Given the description of an element on the screen output the (x, y) to click on. 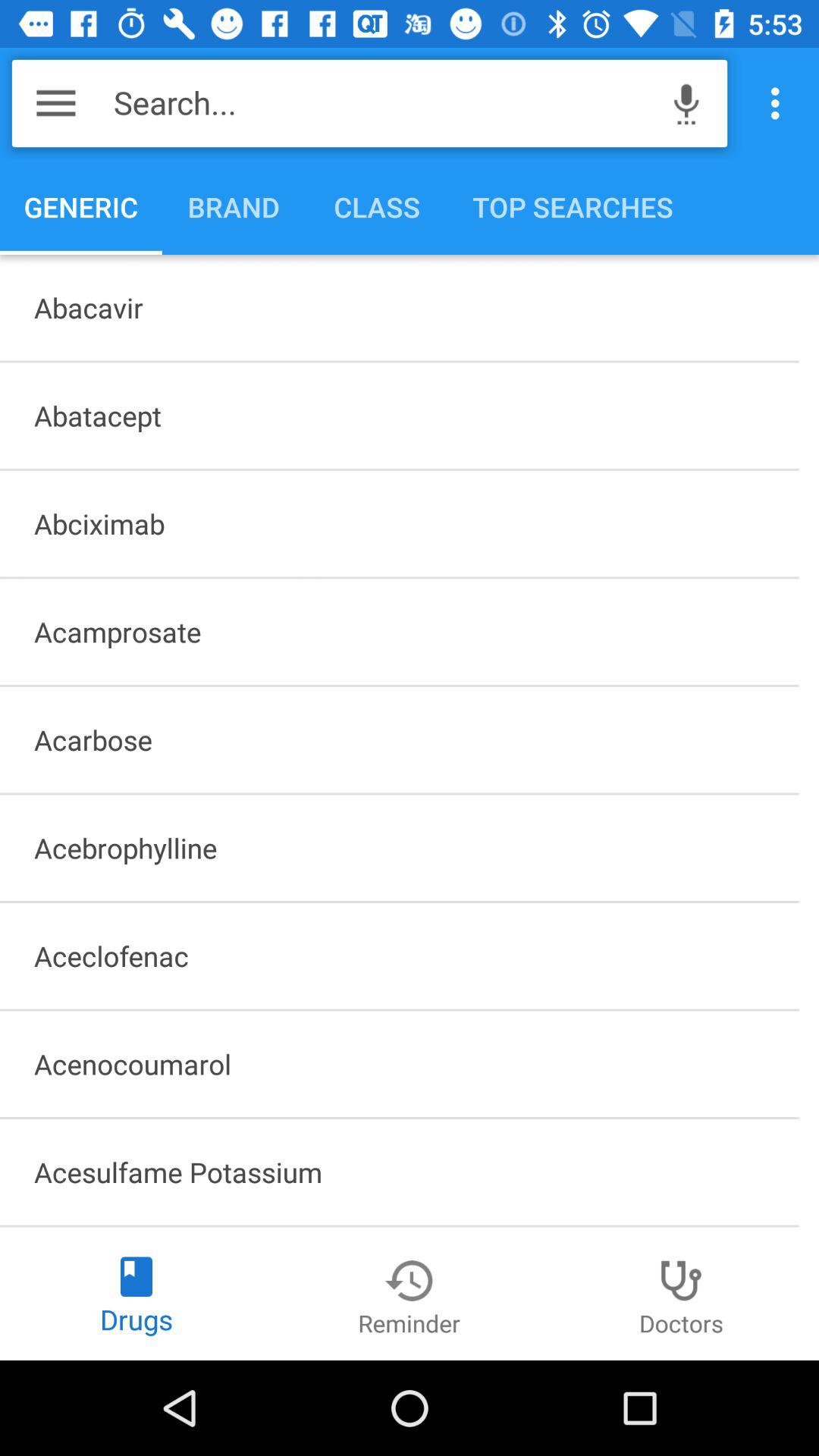
turn off the item below the abciximab item (399, 631)
